Given the description of an element on the screen output the (x, y) to click on. 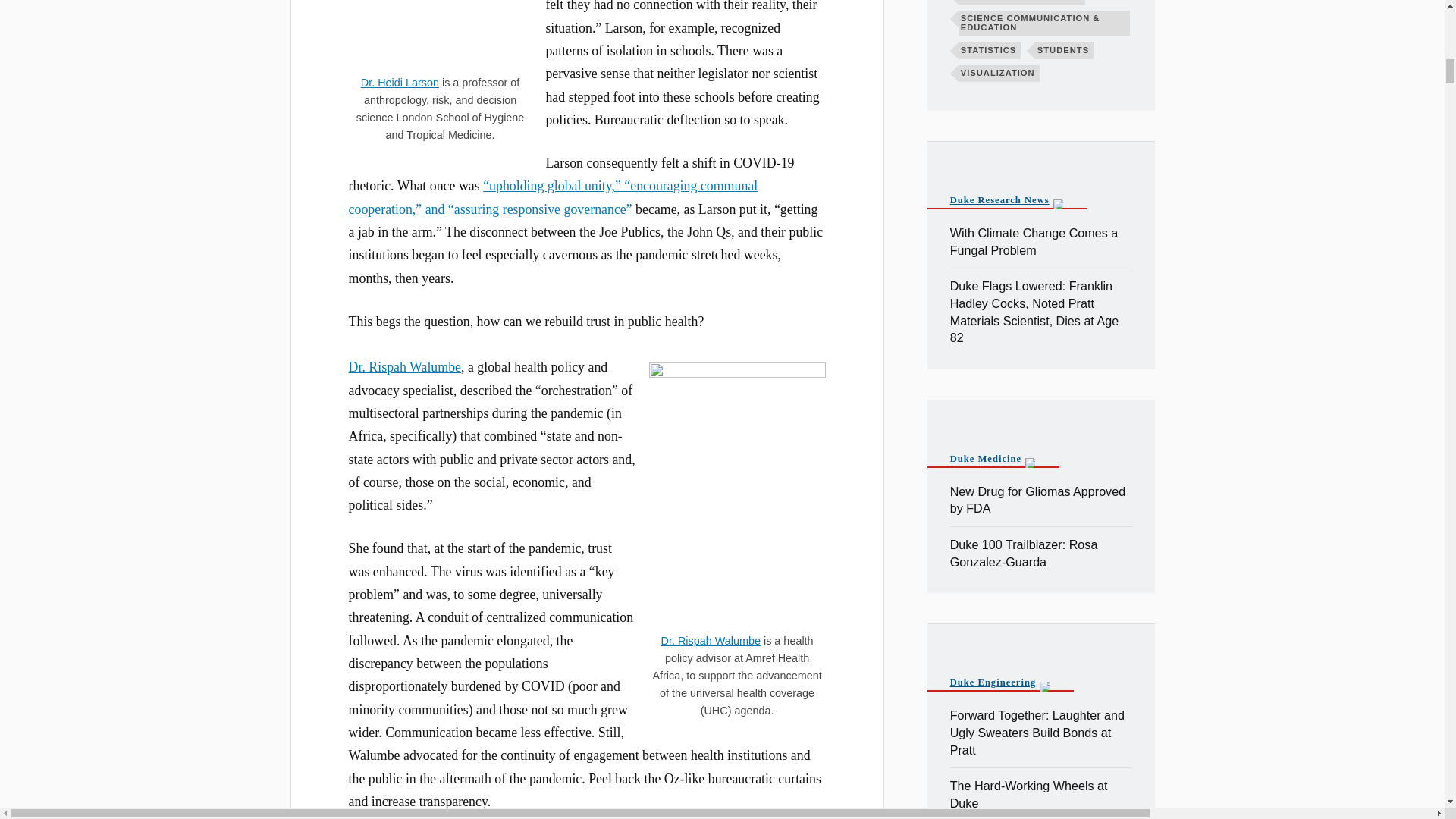
Dr. Rispah Walumbe (710, 640)
Dr. Heidi Larson (400, 82)
Dr. Rispah Walumbe (405, 366)
